Given the description of an element on the screen output the (x, y) to click on. 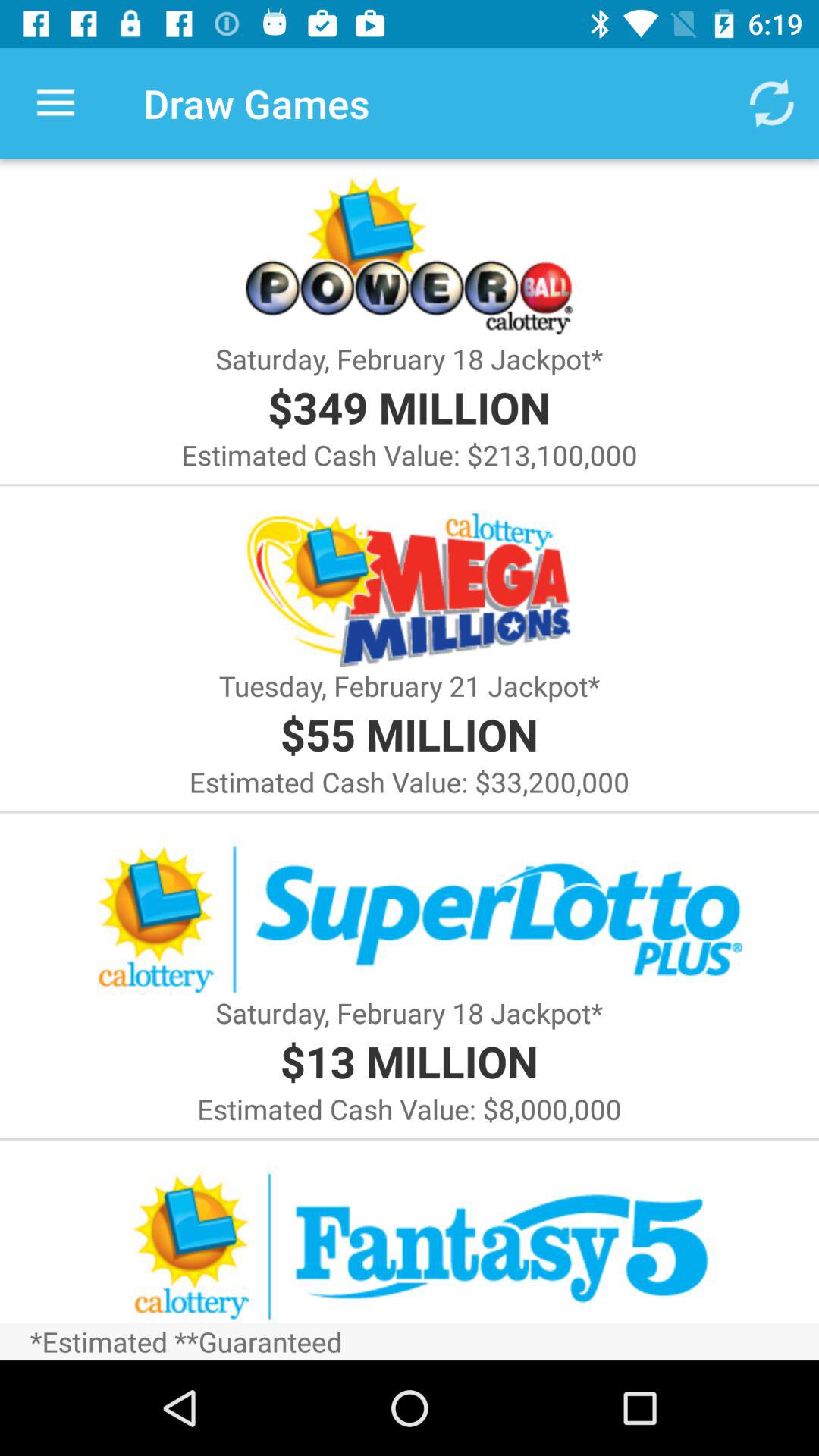
select the $13 million icon (409, 1060)
